Given the description of an element on the screen output the (x, y) to click on. 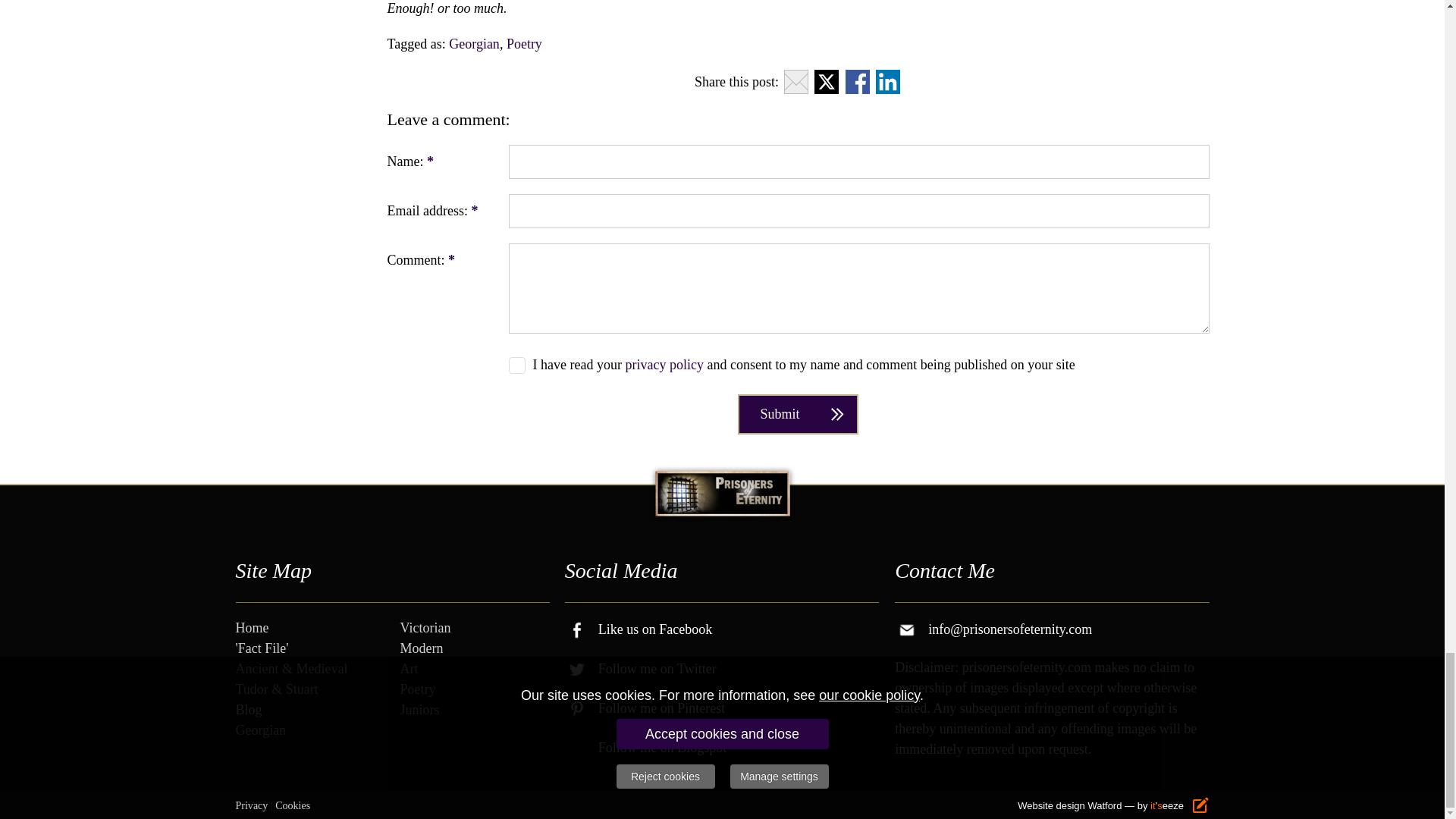
Georgian (473, 43)
Poetry (523, 43)
privacy policy (663, 364)
Submit (797, 414)
